Given the description of an element on the screen output the (x, y) to click on. 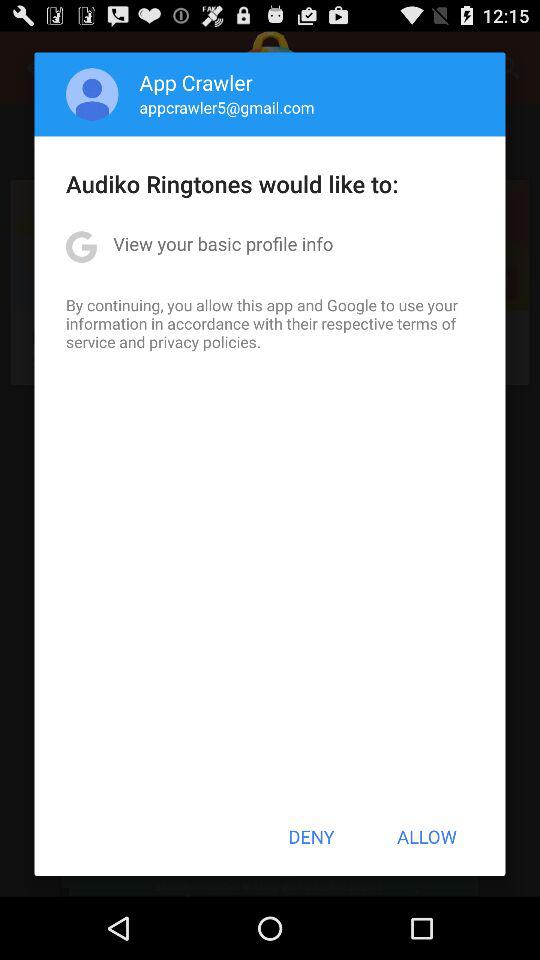
tap the app crawler (195, 82)
